Given the description of an element on the screen output the (x, y) to click on. 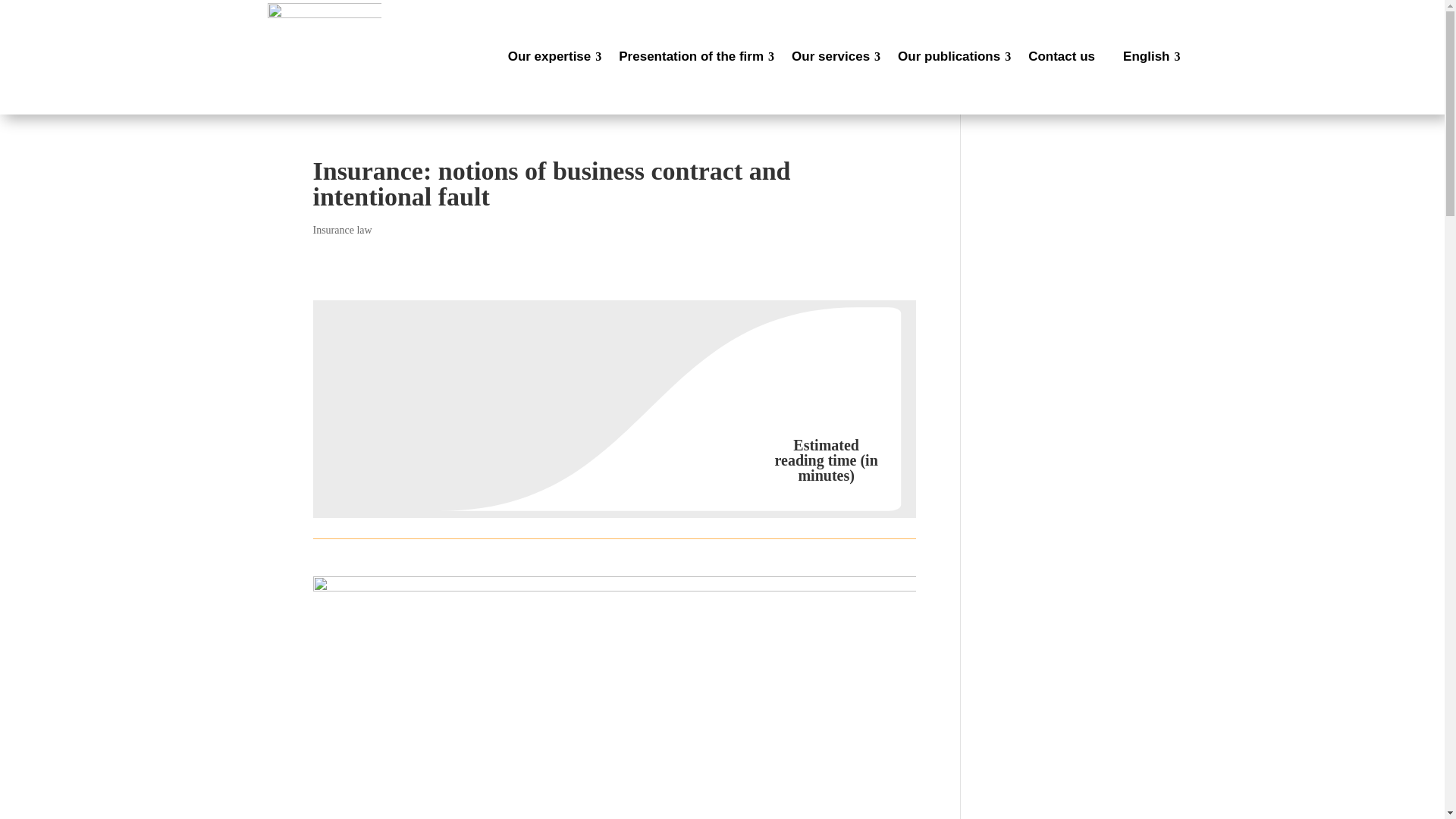
Our expertise (551, 56)
Our publications (950, 56)
Our services (831, 56)
Insurance law (342, 229)
Presentation of the firm (692, 56)
